Given the description of an element on the screen output the (x, y) to click on. 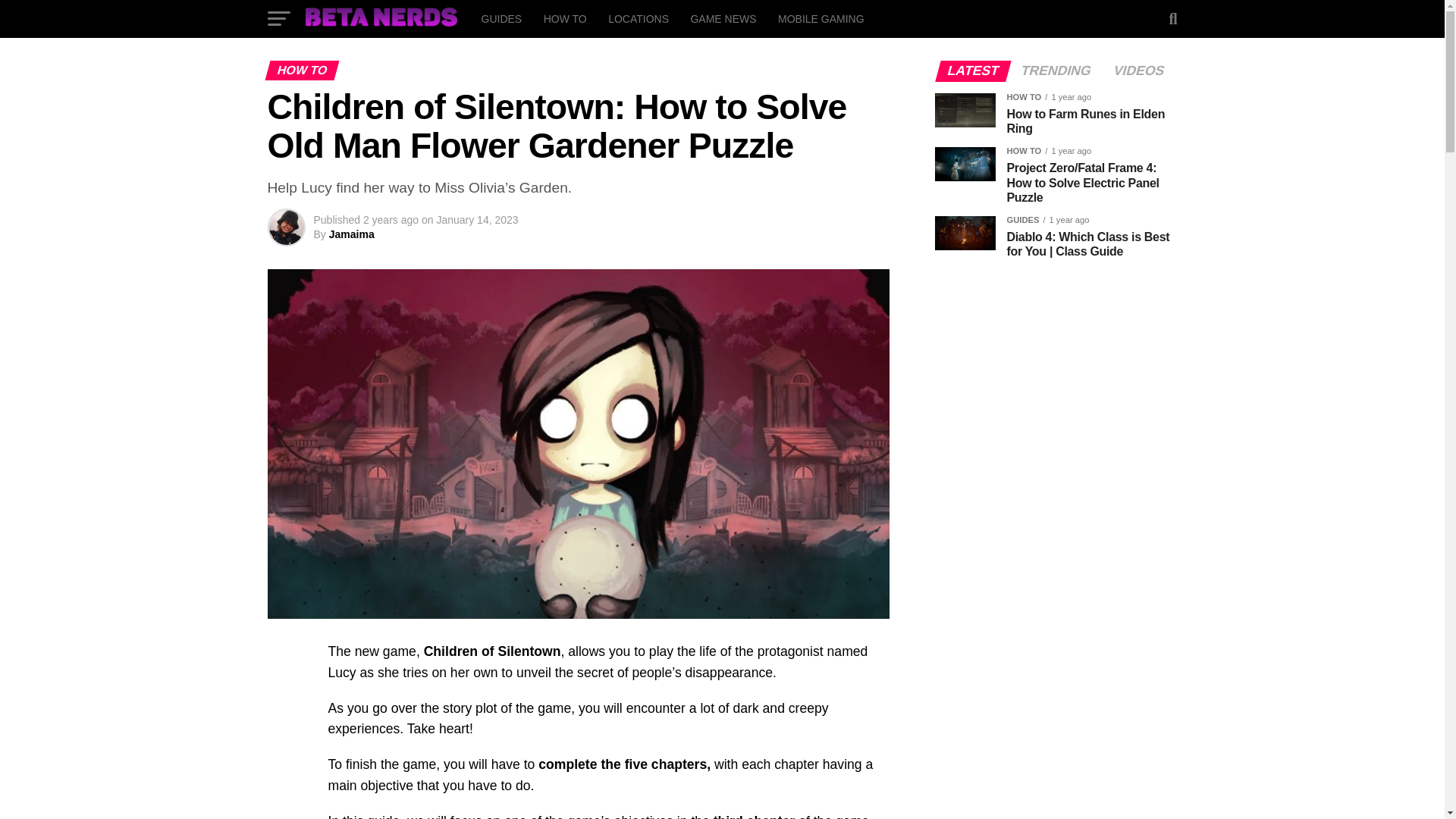
GAME NEWS (723, 18)
HOW TO (564, 18)
LOCATIONS (638, 18)
MOBILE GAMING (820, 18)
Posts by Jamaima (351, 234)
GUIDES (501, 18)
Jamaima (351, 234)
